Given the description of an element on the screen output the (x, y) to click on. 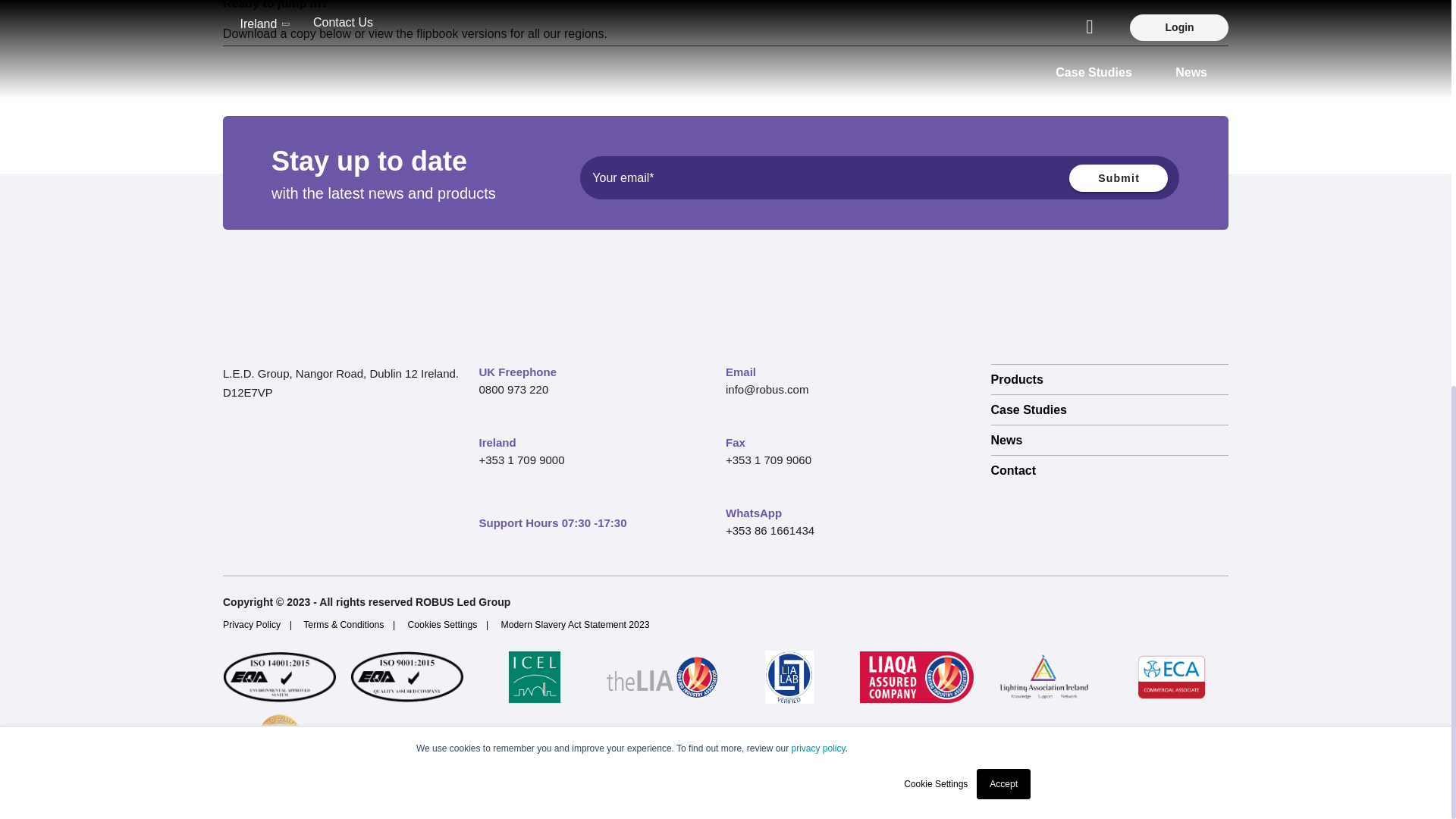
youtube (374, 539)
instagram (339, 539)
Submit (1117, 176)
Robus logo (279, 303)
linkedin (304, 539)
twitter (269, 539)
Accept (1003, 52)
Cookie Settings (936, 52)
privacy policy (817, 17)
facebook (234, 539)
